Given the description of an element on the screen output the (x, y) to click on. 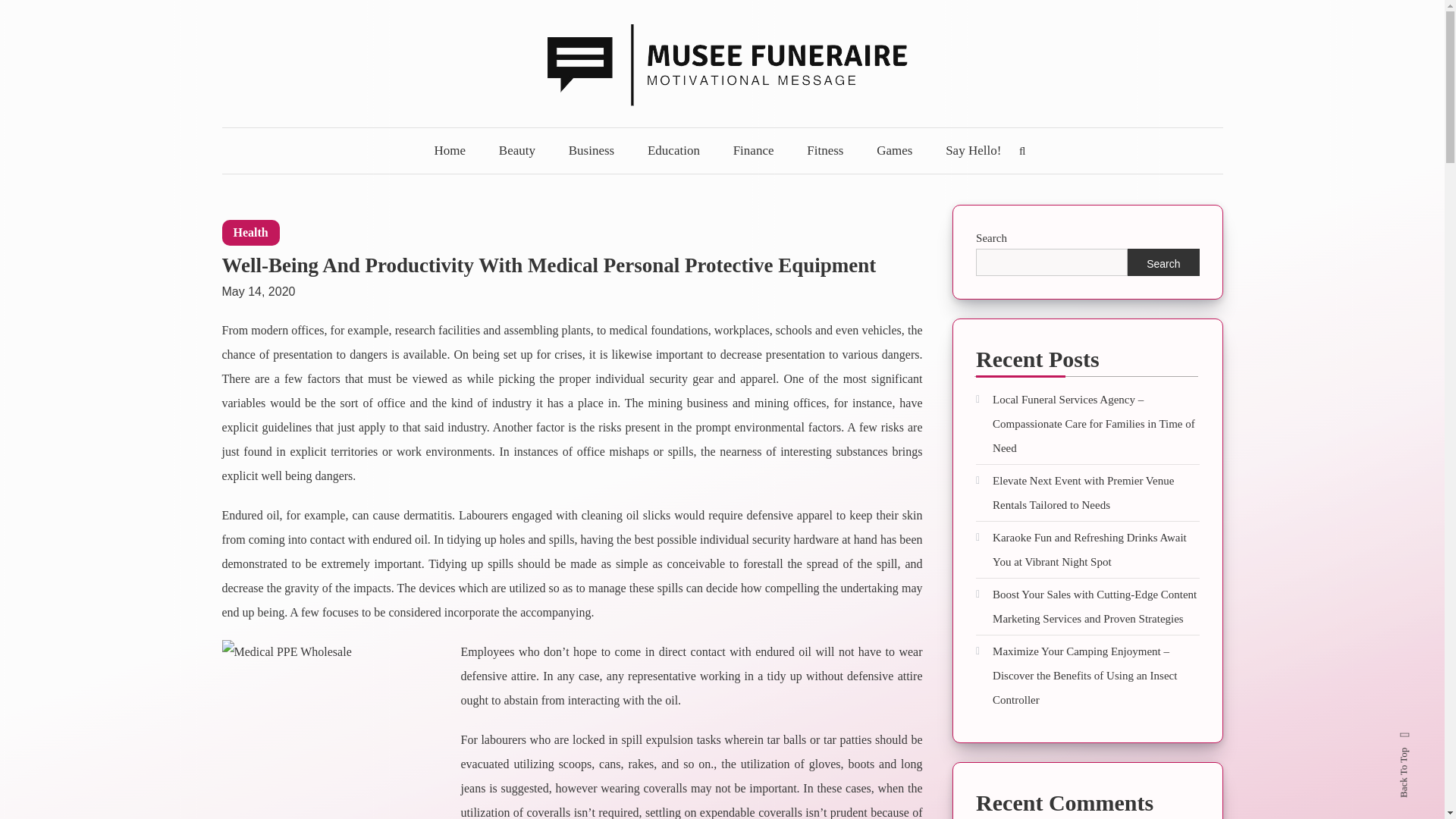
Games (894, 150)
May 14, 2020 (258, 284)
Business (590, 150)
Home (450, 150)
Musee-Funeraire (366, 137)
Search (1162, 262)
Beauty (516, 150)
Fitness (825, 150)
Health (250, 232)
Search (768, 432)
Education (672, 150)
Finance (753, 150)
